Given the description of an element on the screen output the (x, y) to click on. 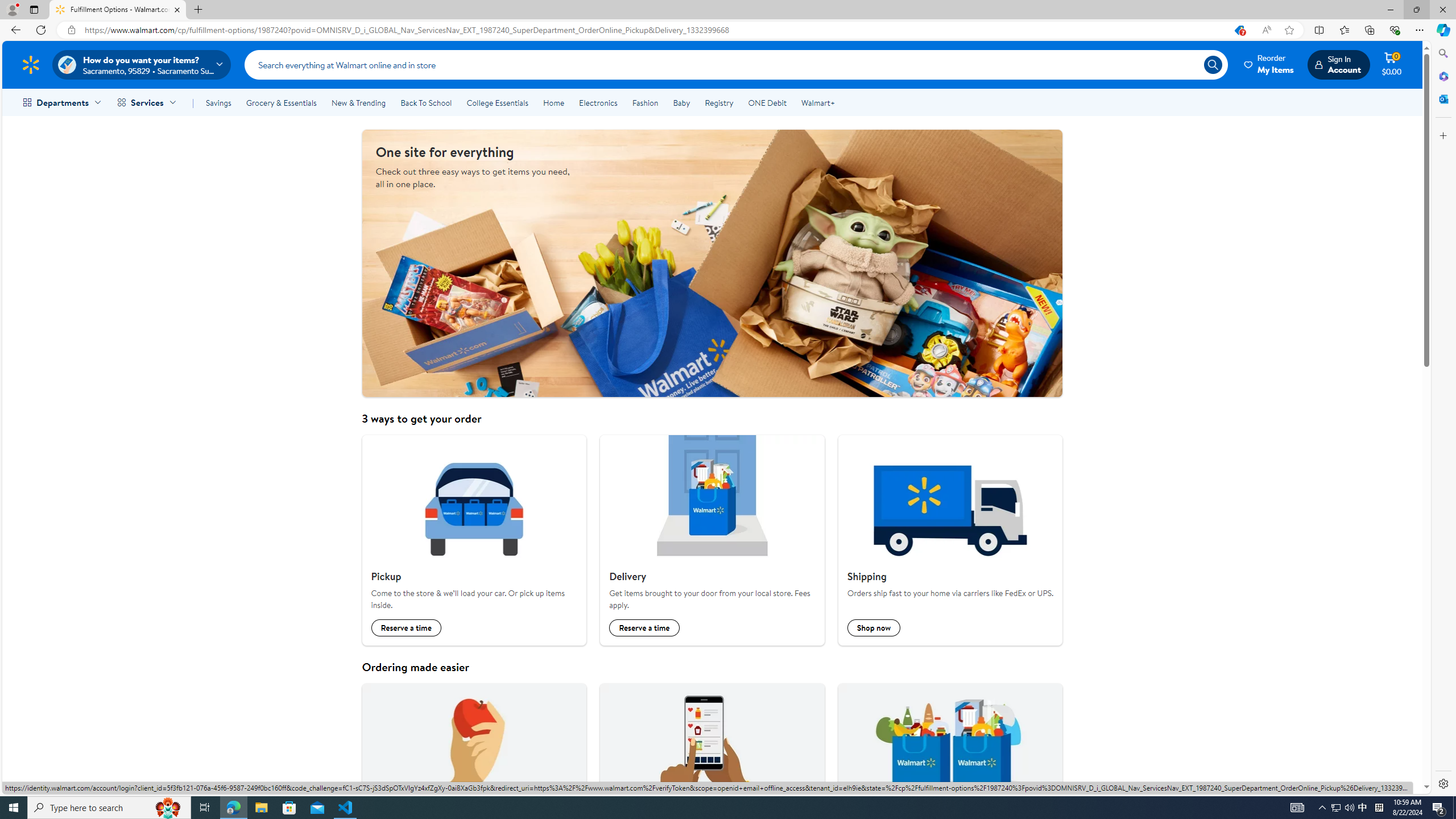
Savings (217, 102)
ONE Debit (767, 102)
Walmart+ (817, 102)
